Given the description of an element on the screen output the (x, y) to click on. 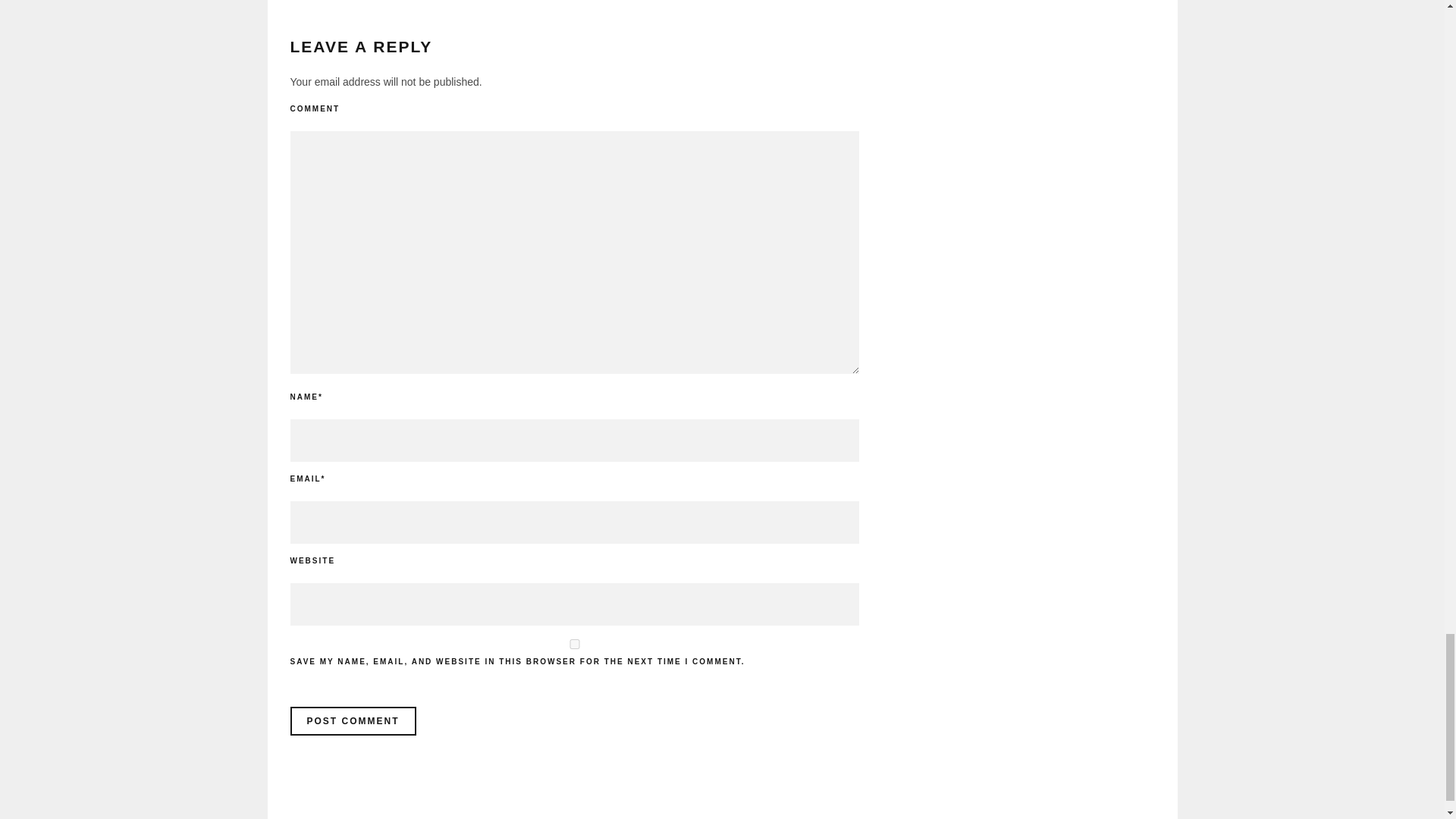
yes (574, 644)
Post Comment (351, 720)
